Given the description of an element on the screen output the (x, y) to click on. 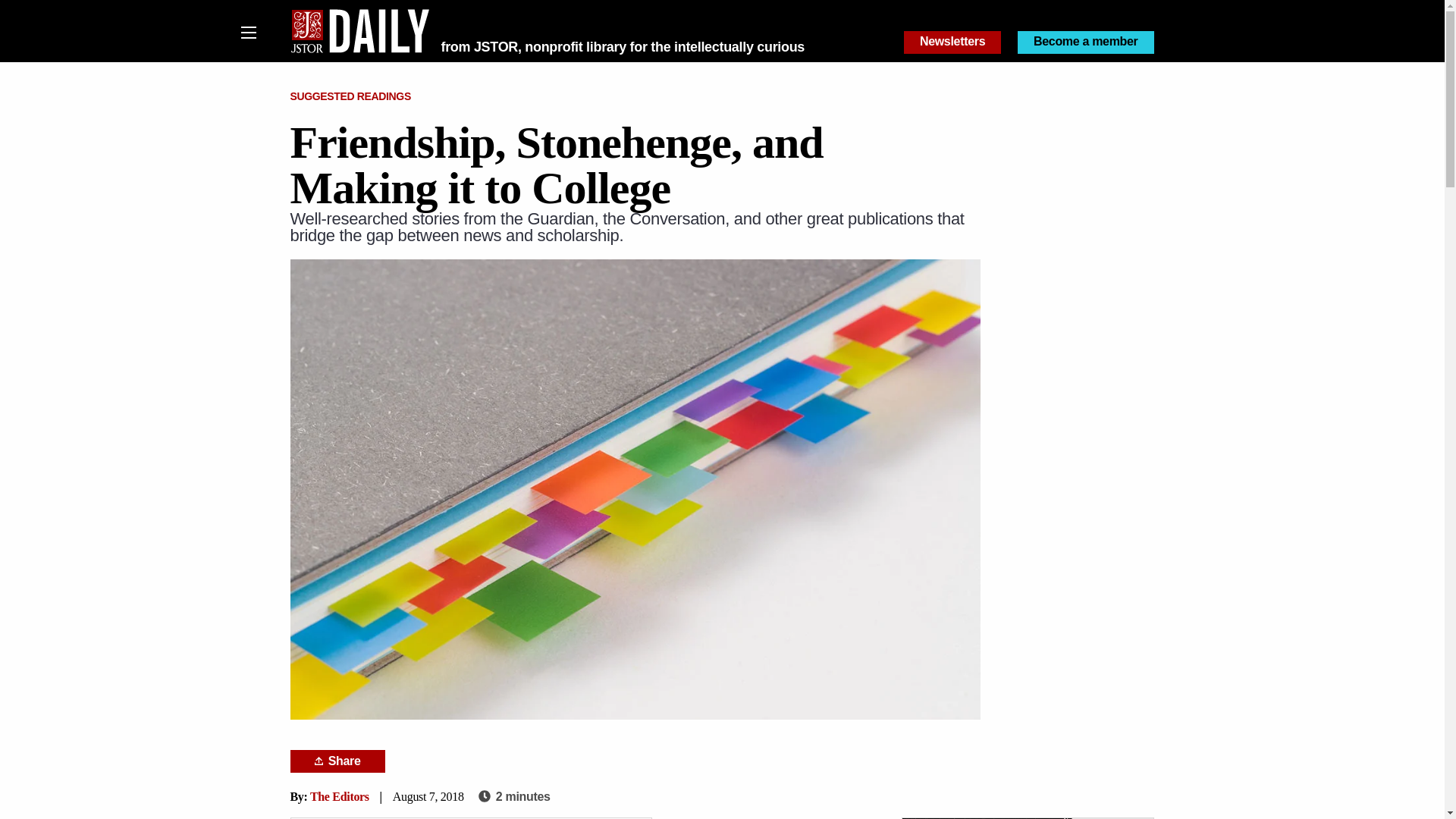
Become a member (1085, 42)
from JSTOR, nonprofit library for the intellectually curious (623, 46)
Newsletters (952, 42)
